Given the description of an element on the screen output the (x, y) to click on. 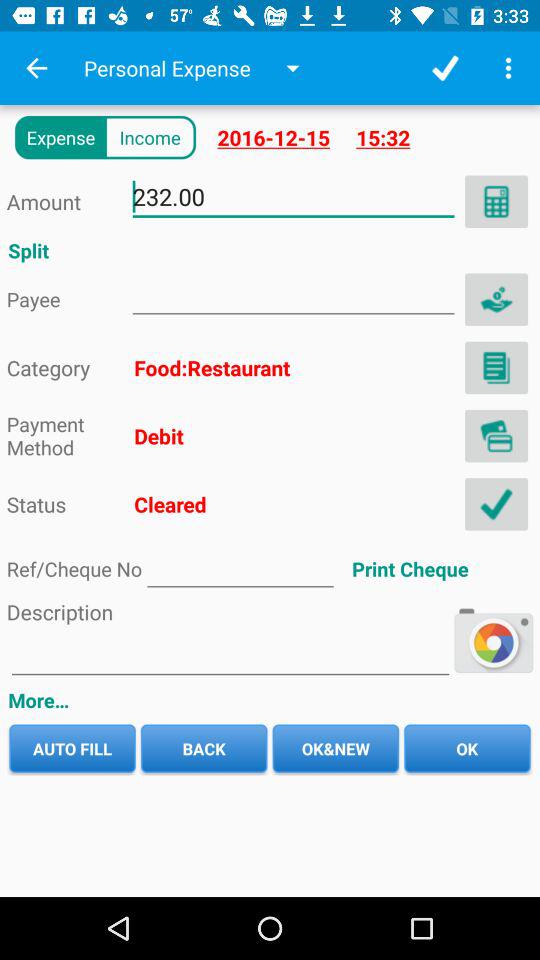
calculate (496, 201)
